Given the description of an element on the screen output the (x, y) to click on. 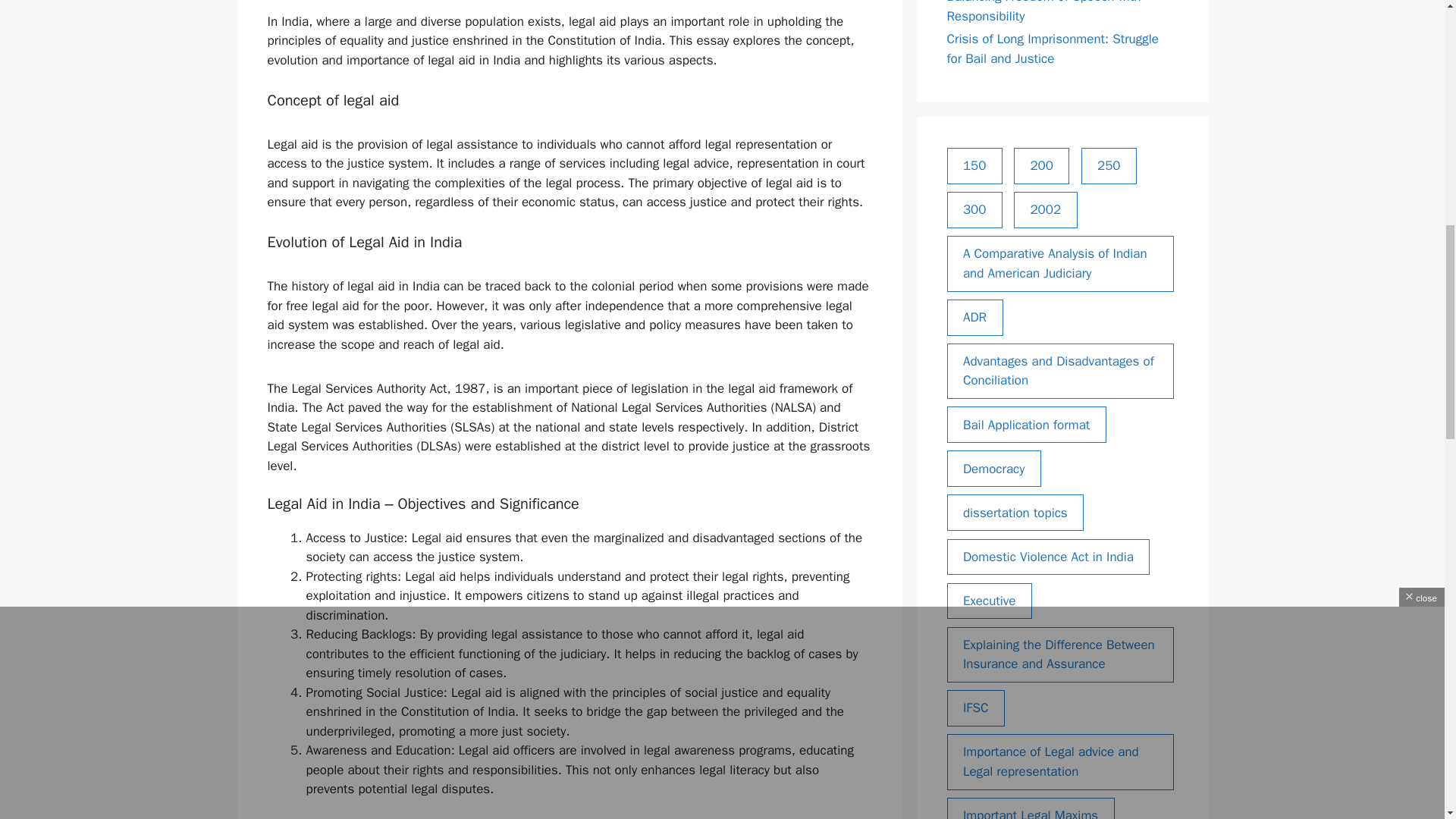
Domestic Violence Act in India (1048, 556)
Bail Application format (1025, 424)
dissertation topics (1014, 512)
150 (973, 166)
A Comparative Analysis of Indian and American Judiciary (1059, 263)
300 (973, 209)
ADR (974, 317)
200 (1040, 166)
Democracy (993, 468)
2002 (1045, 209)
250 (1109, 166)
Balancing Freedom of Speech with Responsibility (1043, 12)
Scroll back to top (1406, 720)
Advantages and Disadvantages of Conciliation (1059, 370)
Crisis of Long Imprisonment: Struggle for Bail and Justice (1051, 48)
